Given the description of an element on the screen output the (x, y) to click on. 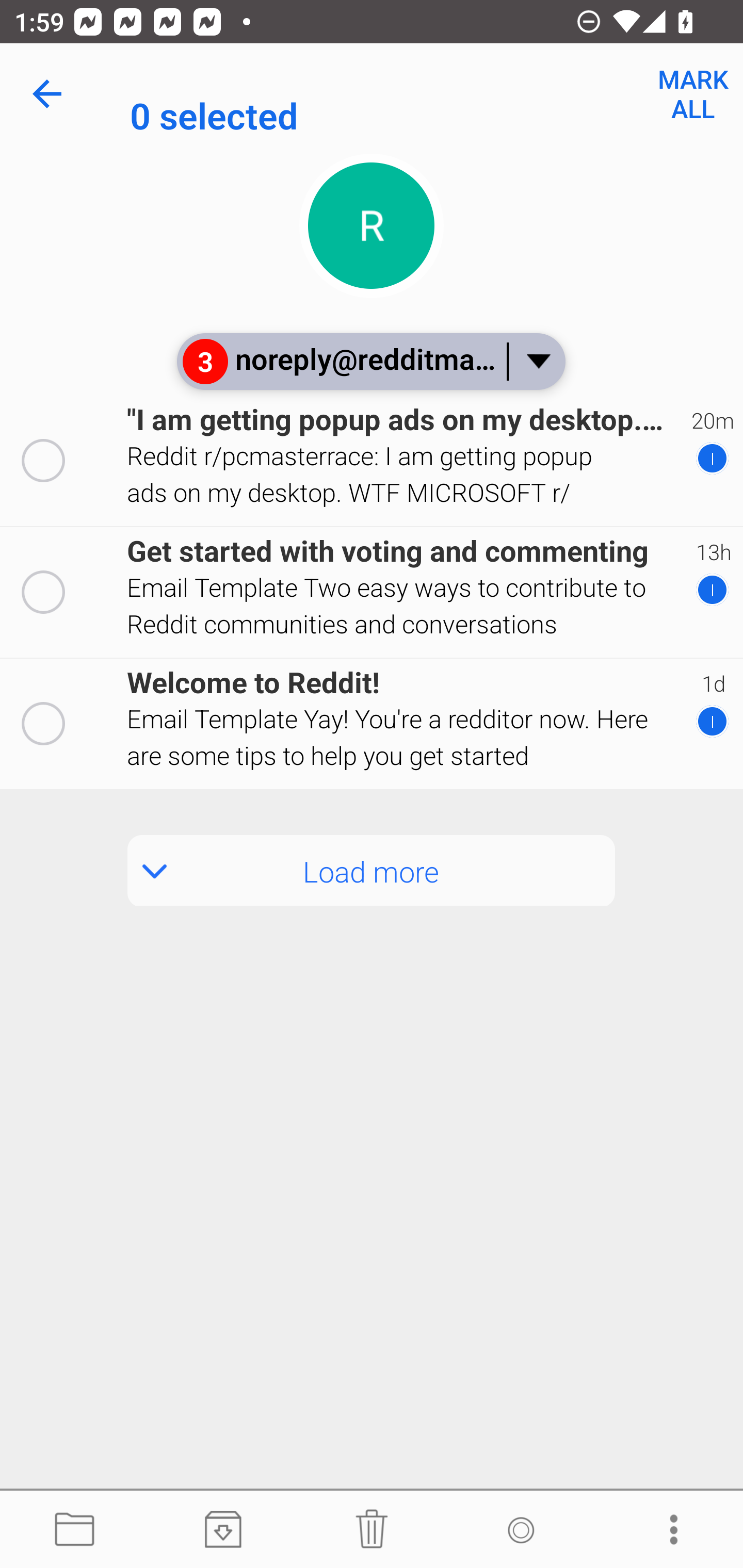
noreply@redditmail.com (436, 93)
Done (50, 93)
MARK
ALL (692, 93)
3 noreply@redditmail.com & You (370, 361)
Load more (371, 870)
Move (74, 1529)
Archive (222, 1529)
Delete (371, 1529)
Mark as Read (520, 1529)
More Options (668, 1529)
